Given the description of an element on the screen output the (x, y) to click on. 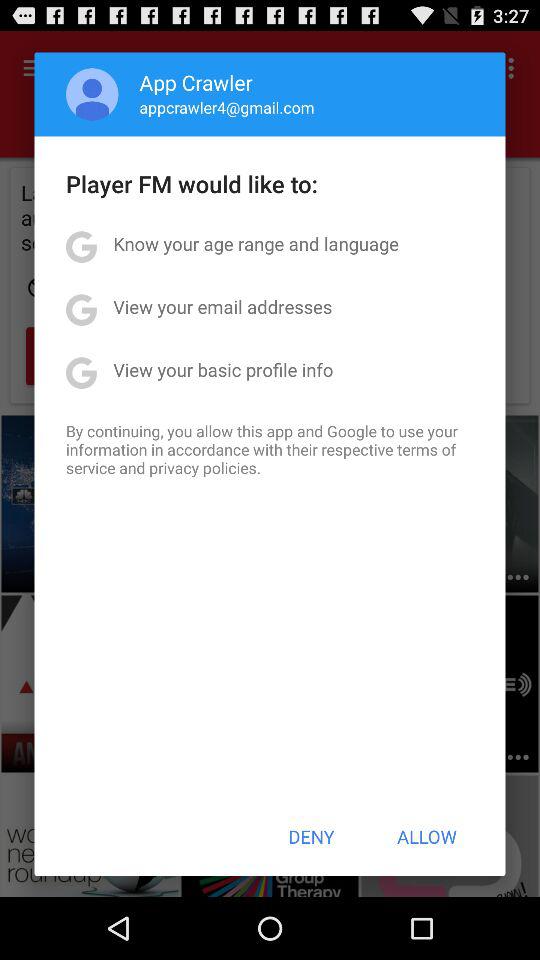
turn on item above player fm would item (92, 94)
